Given the description of an element on the screen output the (x, y) to click on. 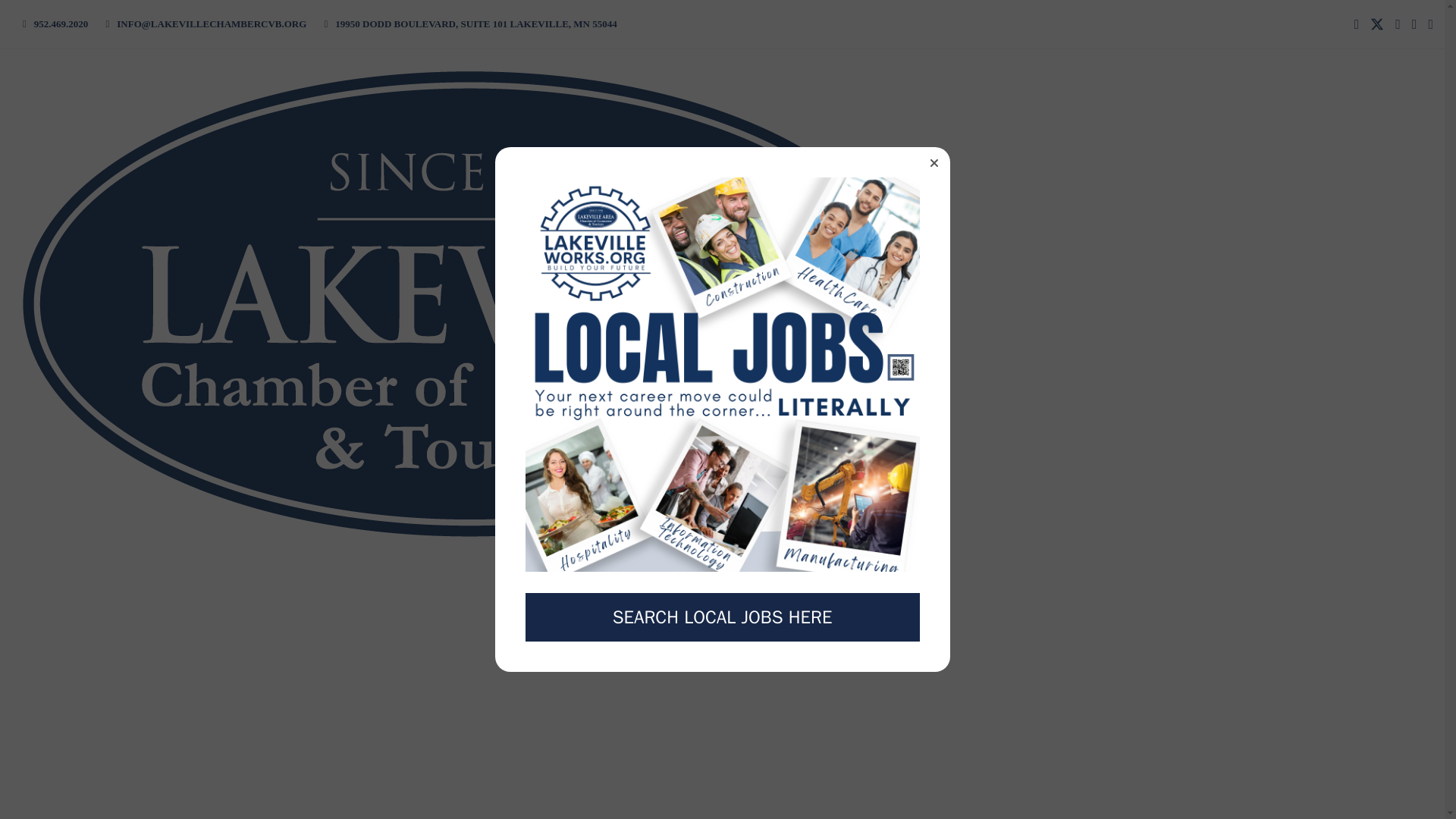
VISIT LAKEVILLE (1233, 303)
MEMBERSHIP (879, 303)
ABOUT (729, 303)
952.469.2020 (60, 23)
JOBS IN LAKEVILLE (1100, 303)
LOCAL EVENTS (727, 546)
FOUNDATION (980, 303)
NEWS (1324, 303)
MEET OUR MEMBERS (438, 546)
MEMBER LOGIN (1016, 546)
